Given the description of an element on the screen output the (x, y) to click on. 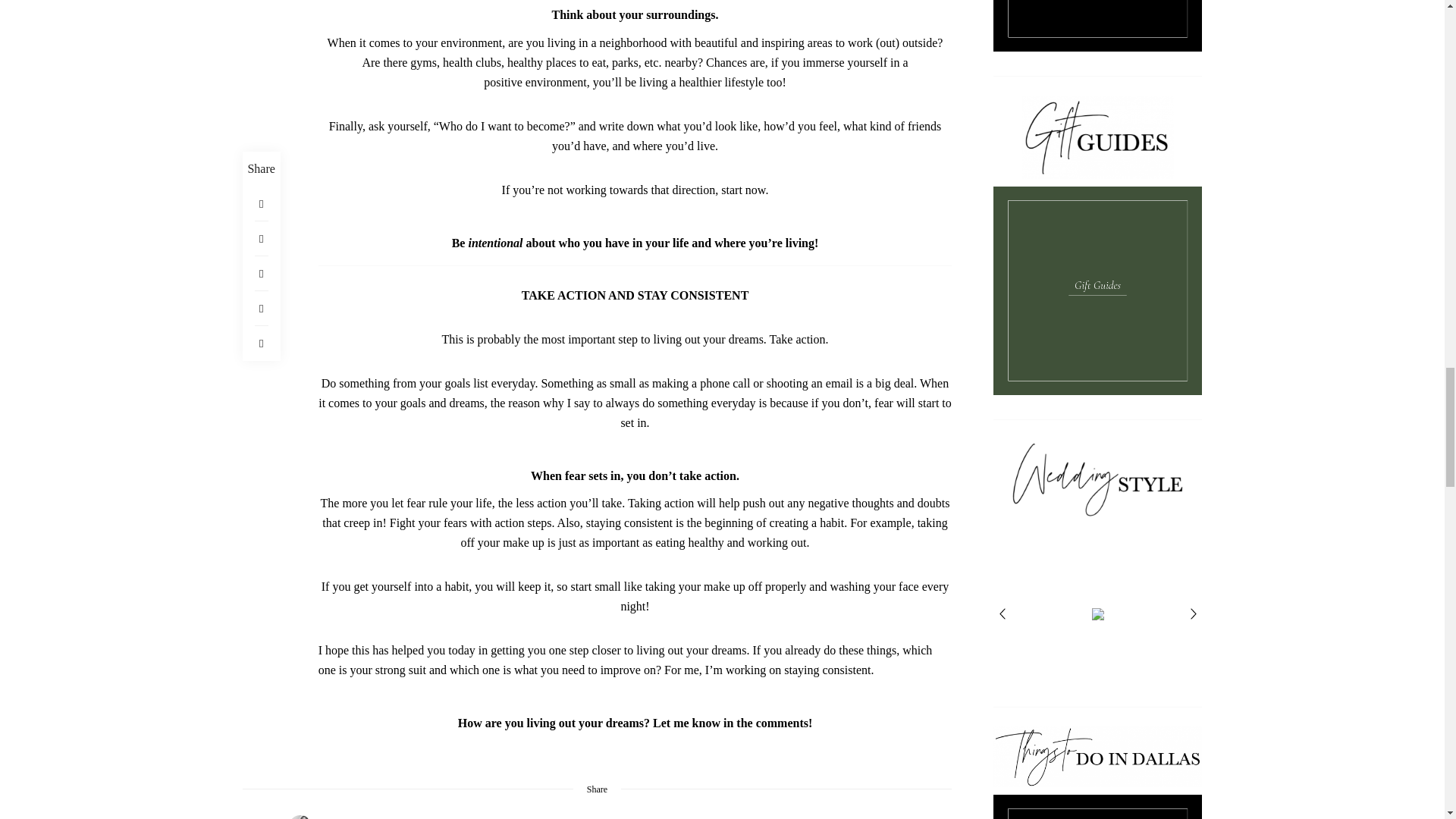
Posts by Huong (300, 816)
